Given the description of an element on the screen output the (x, y) to click on. 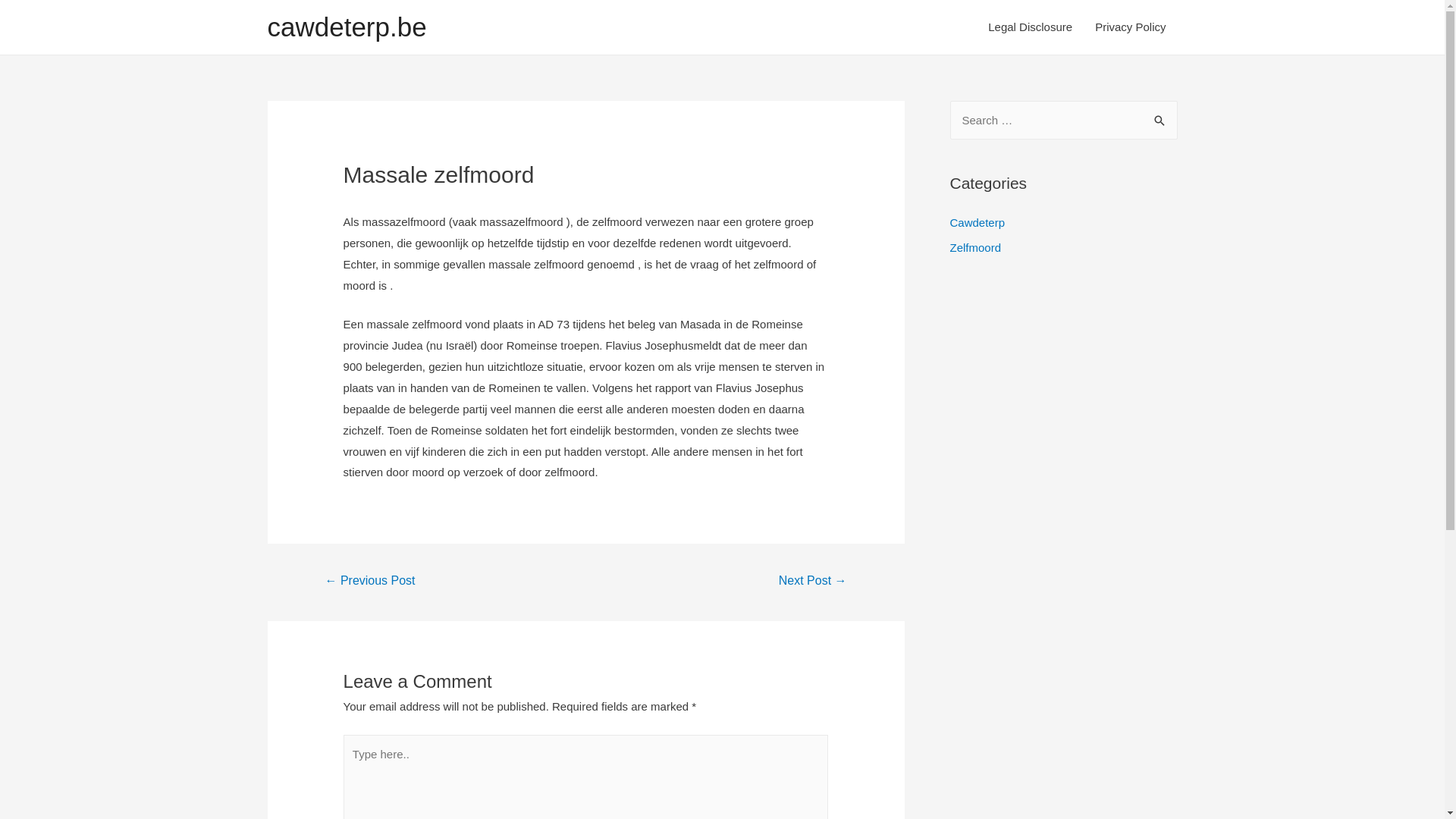
Zelfmoord Element type: text (975, 247)
cawdeterp.be Element type: text (346, 26)
Cawdeterp Element type: text (976, 221)
Privacy Policy Element type: text (1129, 27)
Legal Disclosure Element type: text (1029, 27)
Search Element type: text (1160, 115)
